Given the description of an element on the screen output the (x, y) to click on. 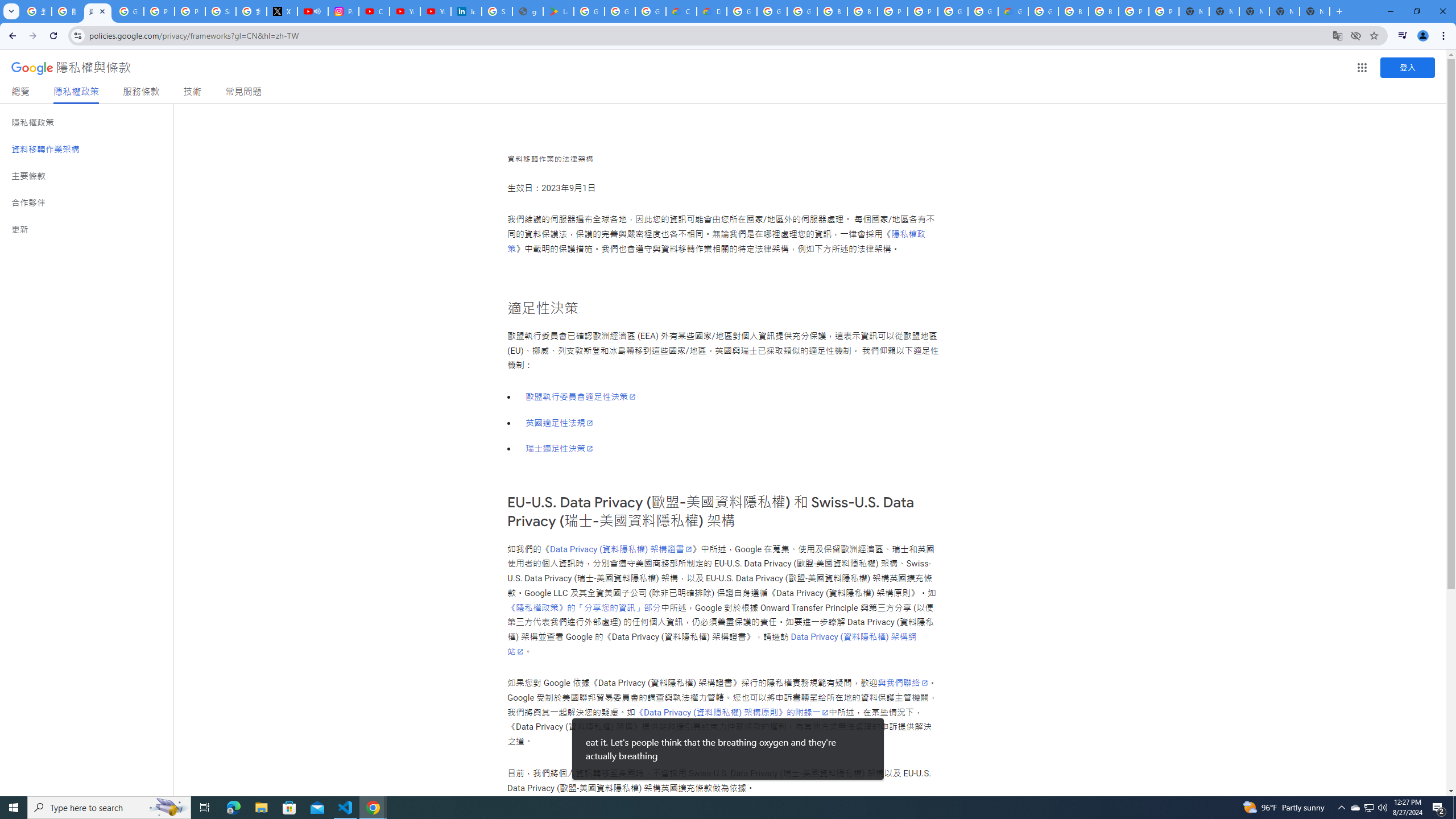
New Tab (1314, 11)
Sign in - Google Accounts (496, 11)
